Given the description of an element on the screen output the (x, y) to click on. 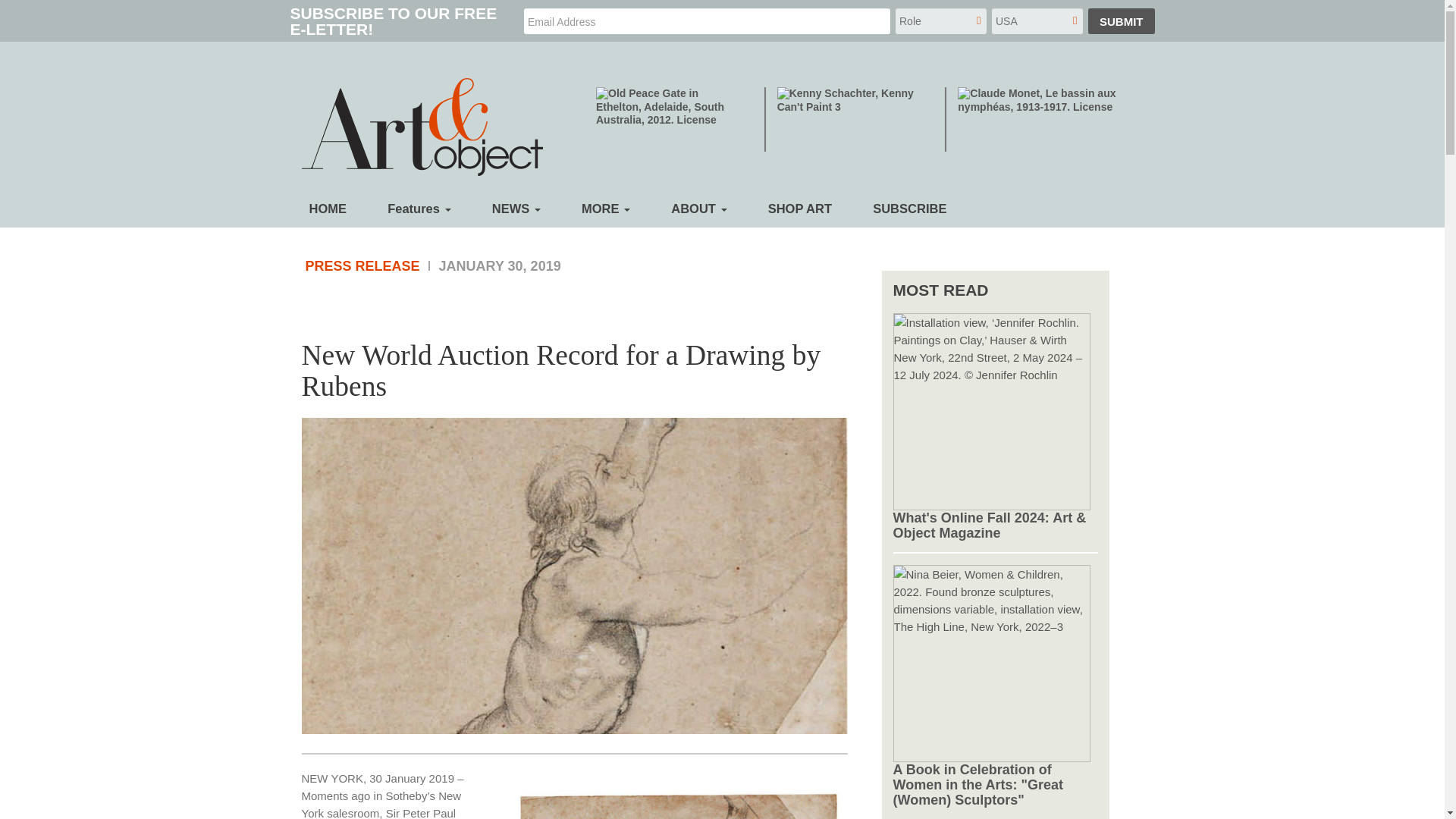
SUBMIT (1120, 21)
SHOP ART (799, 208)
MORE (605, 208)
Home (427, 130)
HOME (327, 208)
NEWS (516, 208)
Features (418, 208)
ABOUT (698, 208)
